Given the description of an element on the screen output the (x, y) to click on. 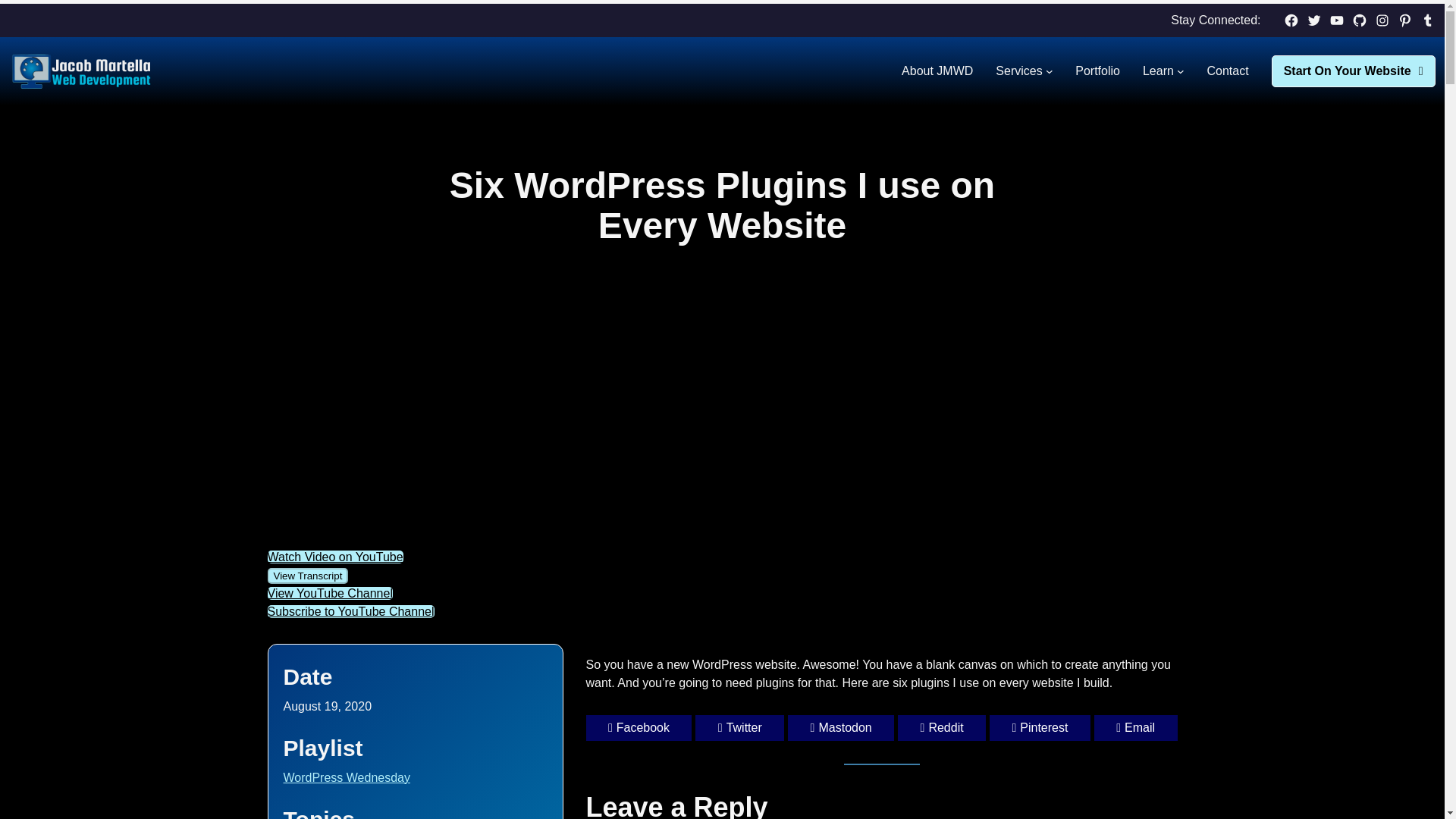
View Transcript (306, 575)
Learn (1157, 71)
Contact (1227, 71)
YouTube (1335, 20)
Pinterest (1404, 20)
About JMWD (936, 71)
GitHub (1359, 20)
WordPress Wednesday (346, 777)
View YouTube Channel (328, 593)
Services (1018, 71)
Instagram (1381, 20)
Facebook (1290, 20)
Start On Your Website (1353, 70)
Six WordPress Plugins I use on Every Website (608, 413)
Watch Video on YouTube (334, 556)
